Given the description of an element on the screen output the (x, y) to click on. 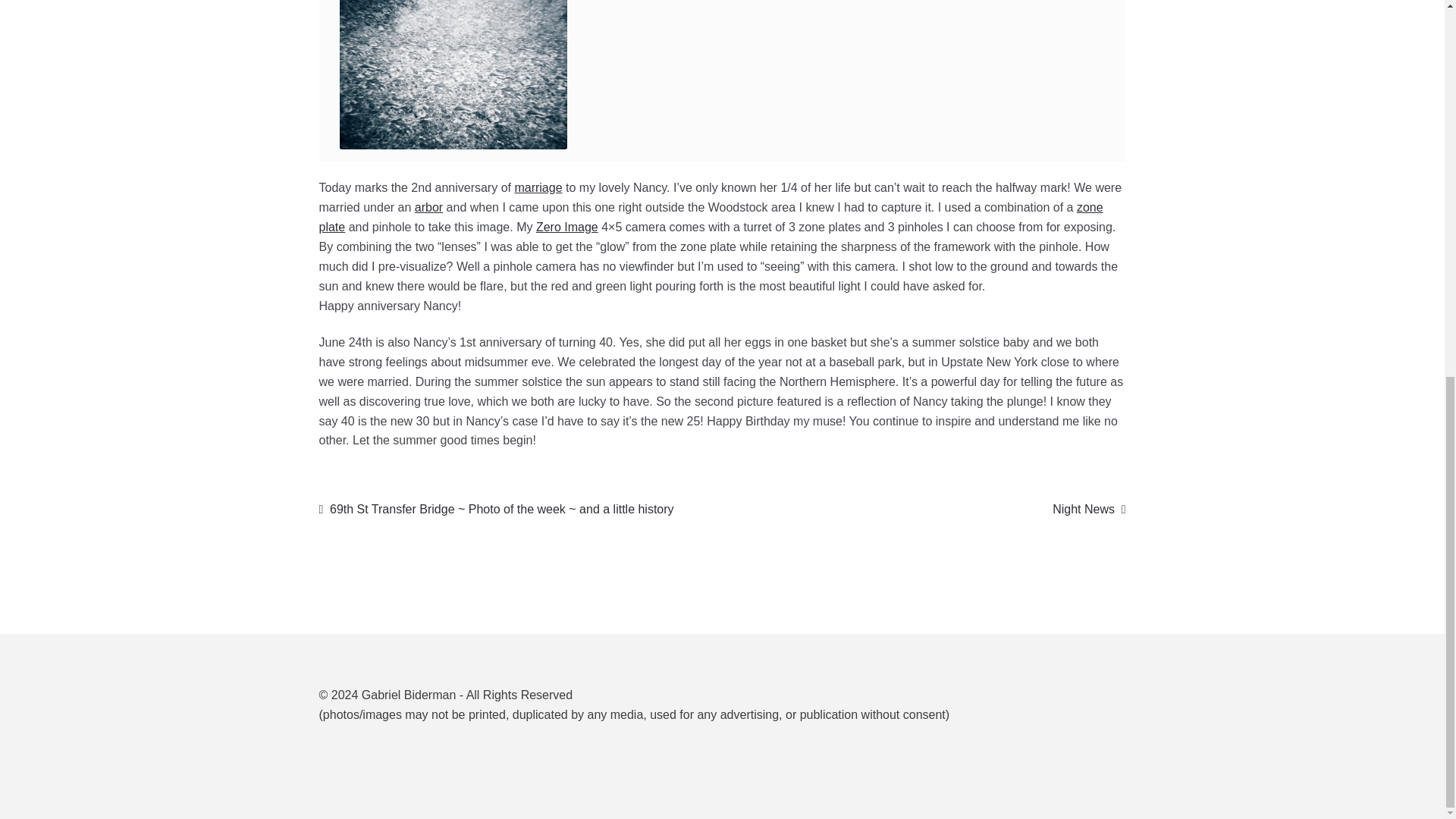
zone plate (710, 216)
marriage (537, 187)
Zero Image (1088, 509)
arbor (566, 226)
